Given the description of an element on the screen output the (x, y) to click on. 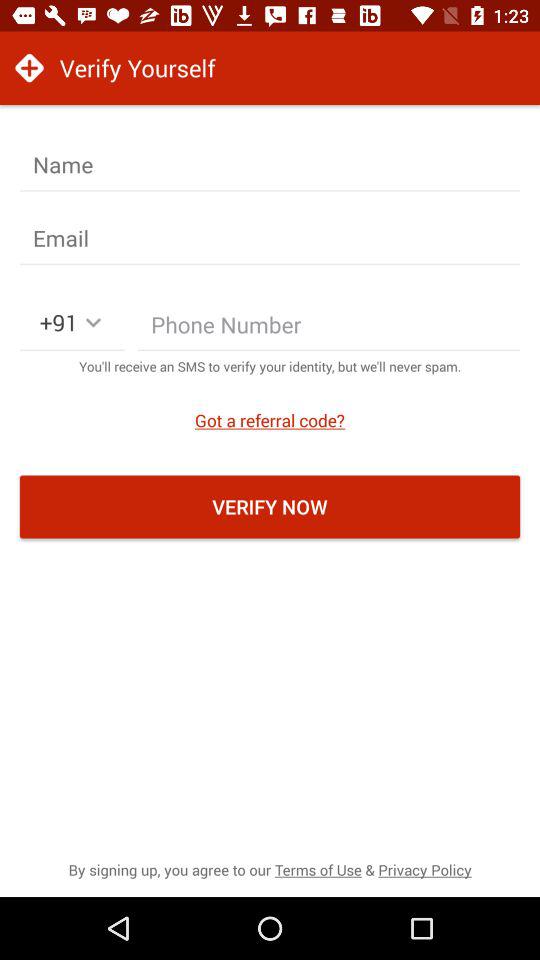
type email address (269, 238)
